Given the description of an element on the screen output the (x, y) to click on. 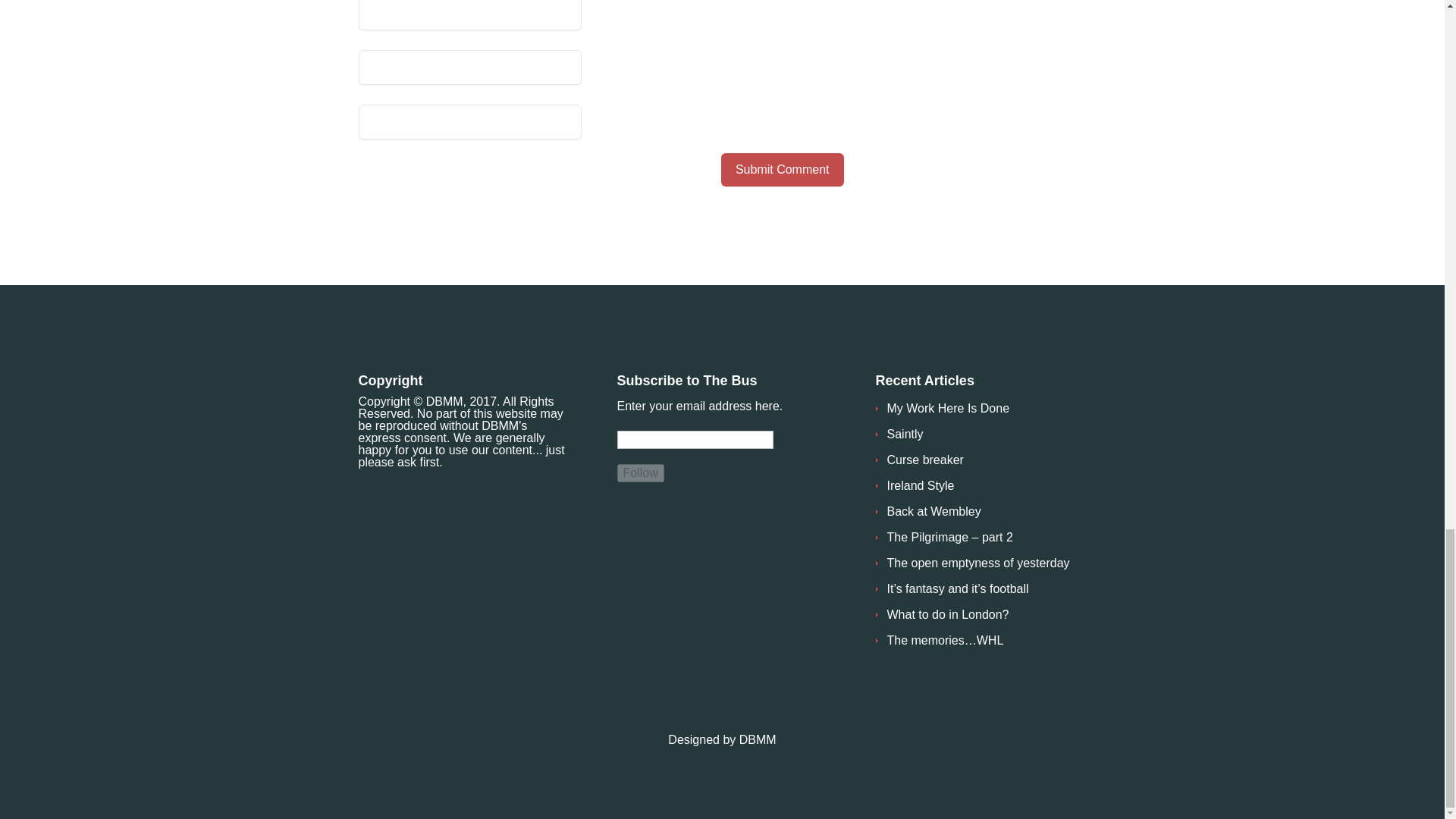
Follow (640, 473)
Premium WordPress Themes (757, 739)
Submit Comment (782, 169)
